Given the description of an element on the screen output the (x, y) to click on. 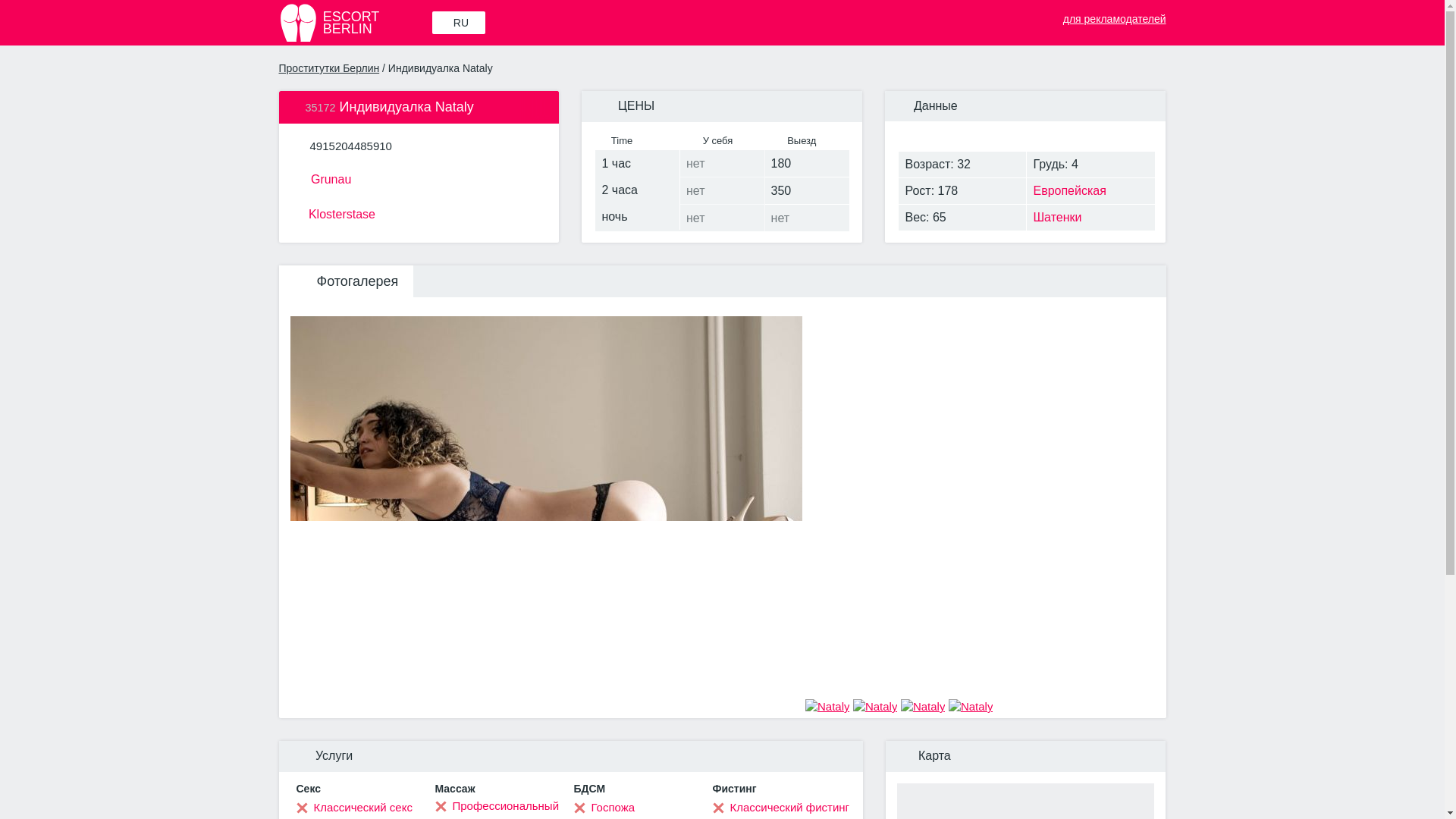
Klosterstase (418, 212)
4915204485910 (354, 22)
Grunau (350, 145)
